Given the description of an element on the screen output the (x, y) to click on. 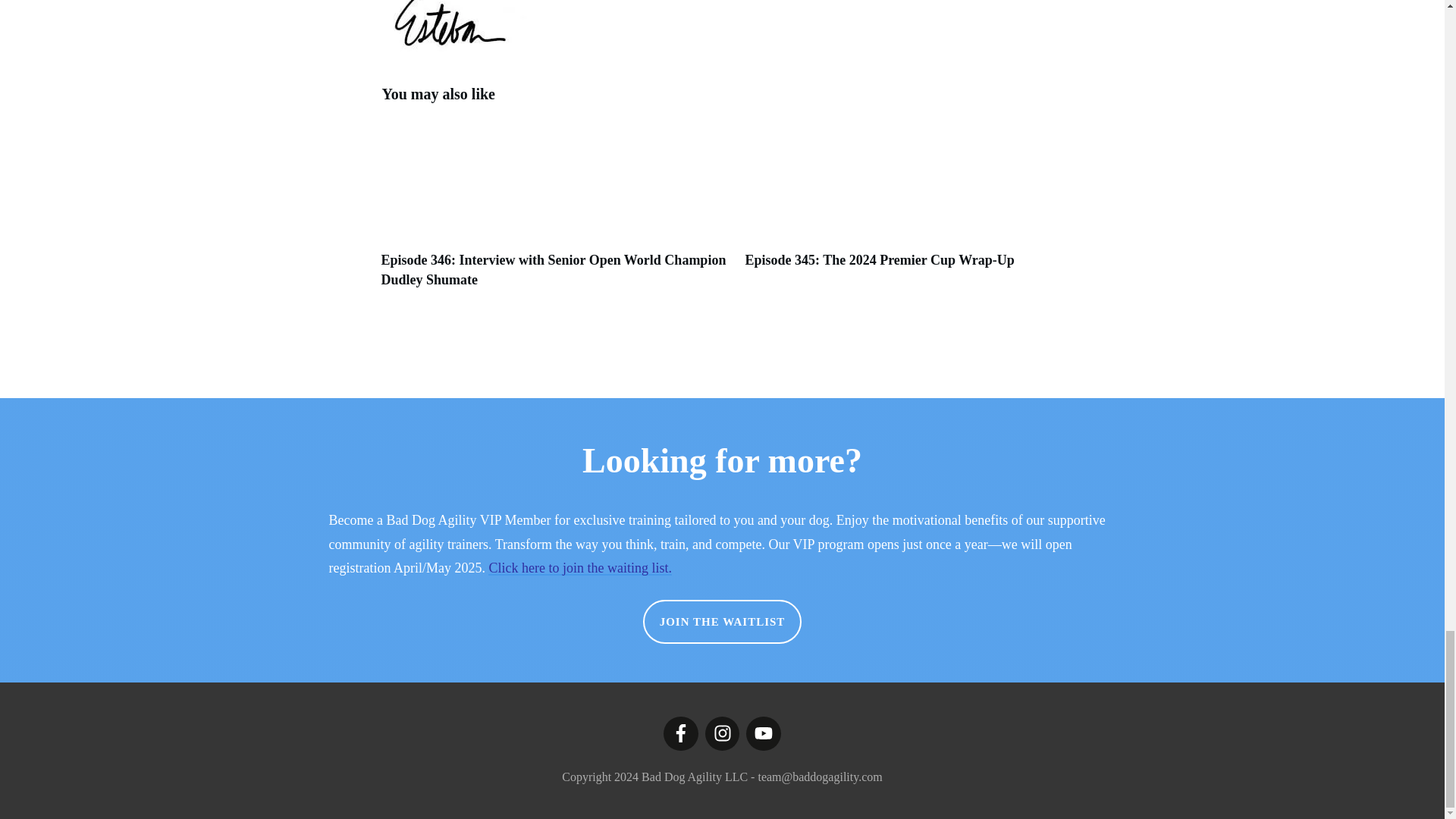
Episode 345: The 2024 Premier Cup Wrap-Up (878, 259)
